Given the description of an element on the screen output the (x, y) to click on. 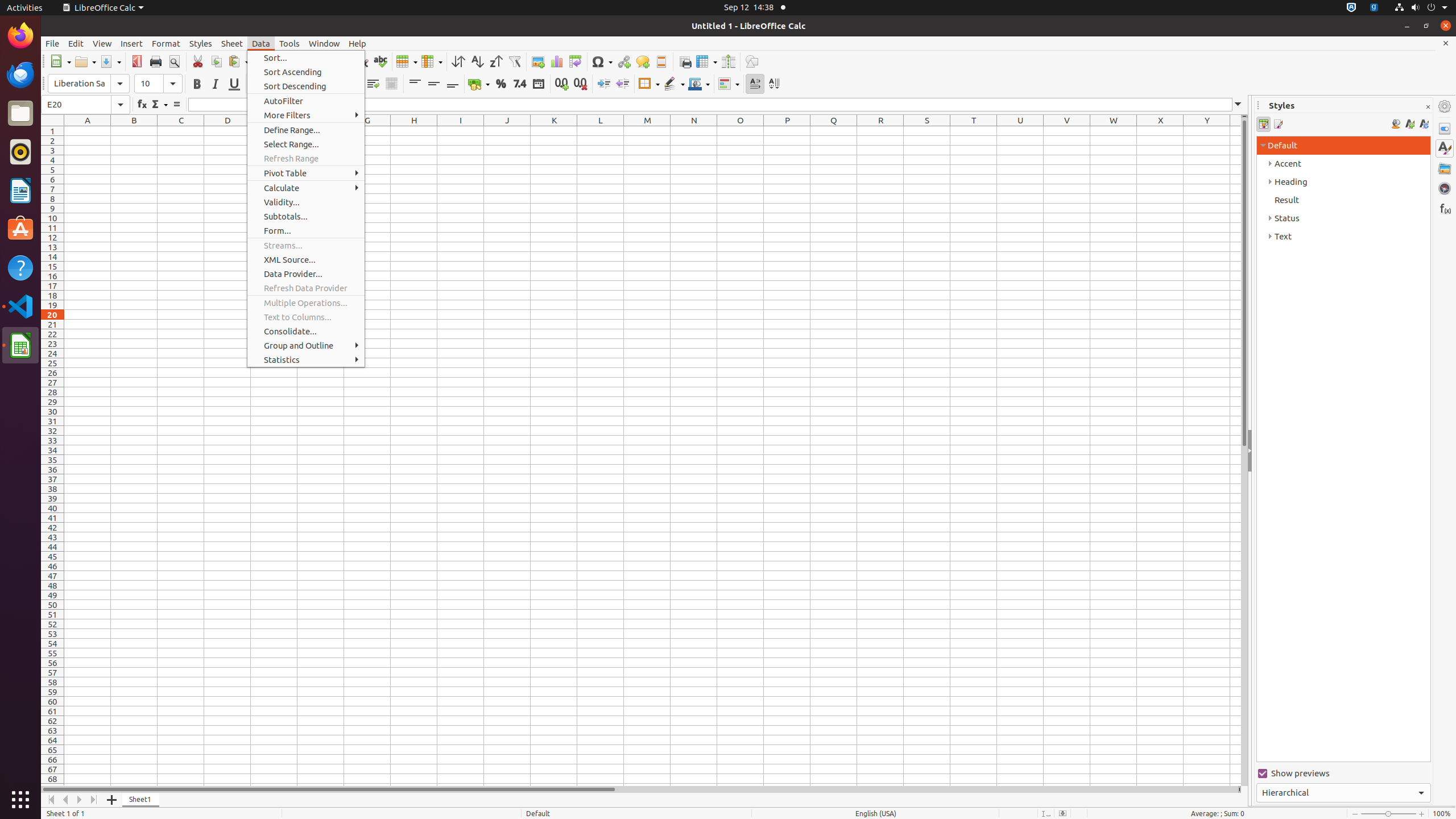
Fill Format Mode Element type: push-button (1395, 123)
Comment Element type: push-button (642, 61)
Name Box Element type: combo-box (85, 104)
Border Color Element type: push-button (698, 83)
View Element type: menu (102, 43)
